Given the description of an element on the screen output the (x, y) to click on. 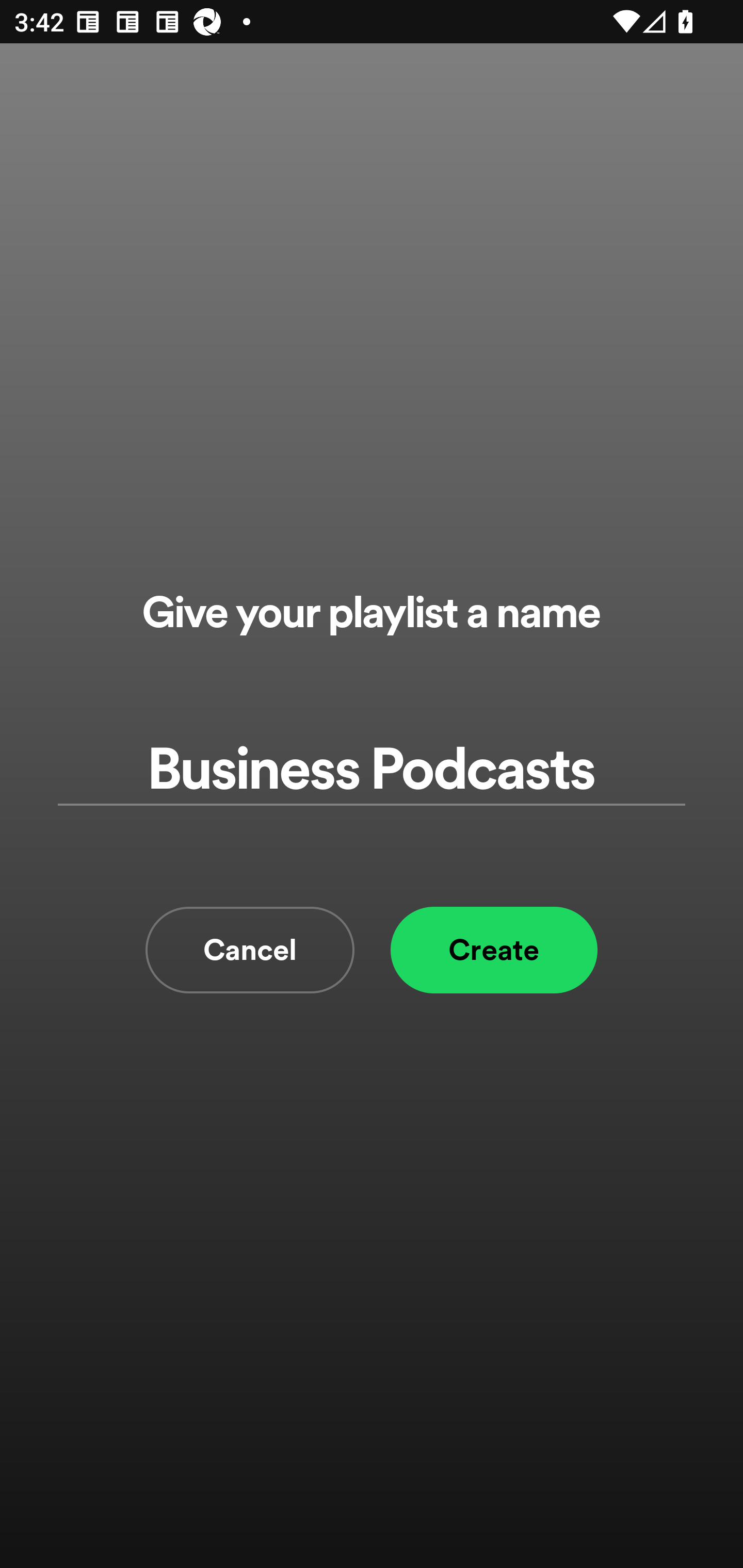
Business Podcasts Add a playlist name (371, 769)
Cancel (249, 950)
Create (493, 950)
